Given the description of an element on the screen output the (x, y) to click on. 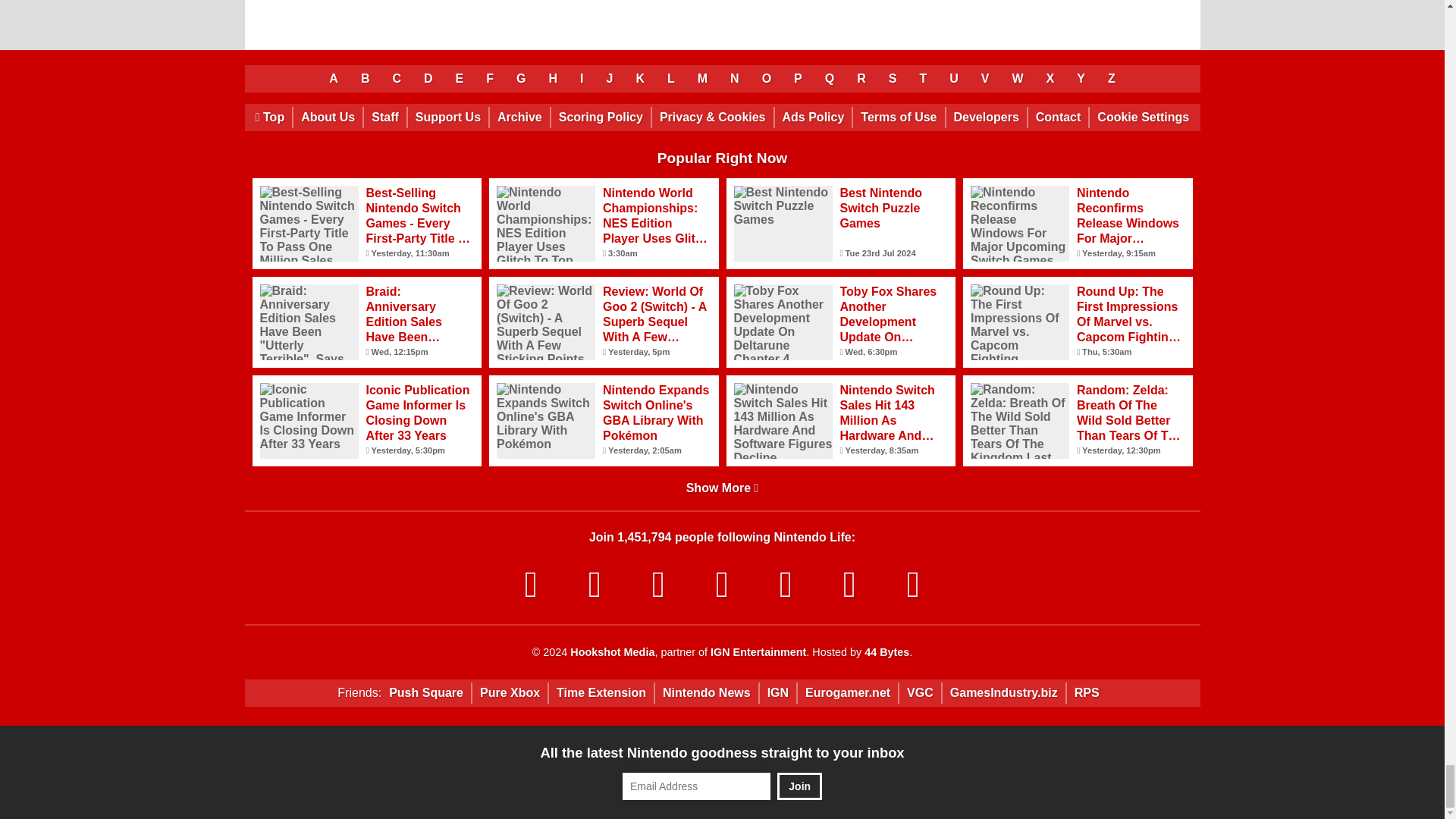
Join (799, 786)
